Given the description of an element on the screen output the (x, y) to click on. 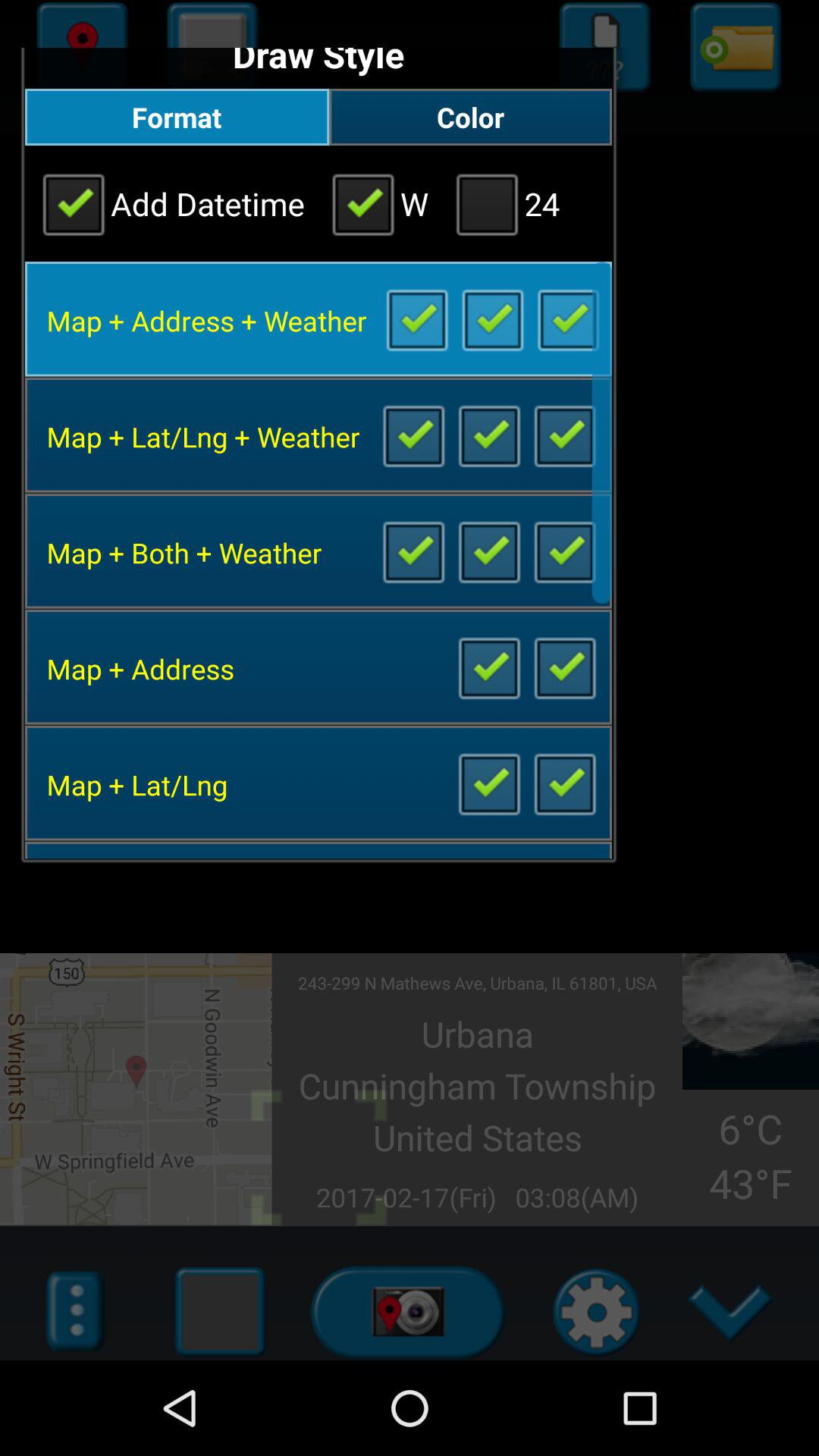
mark for activate (564, 434)
